Given the description of an element on the screen output the (x, y) to click on. 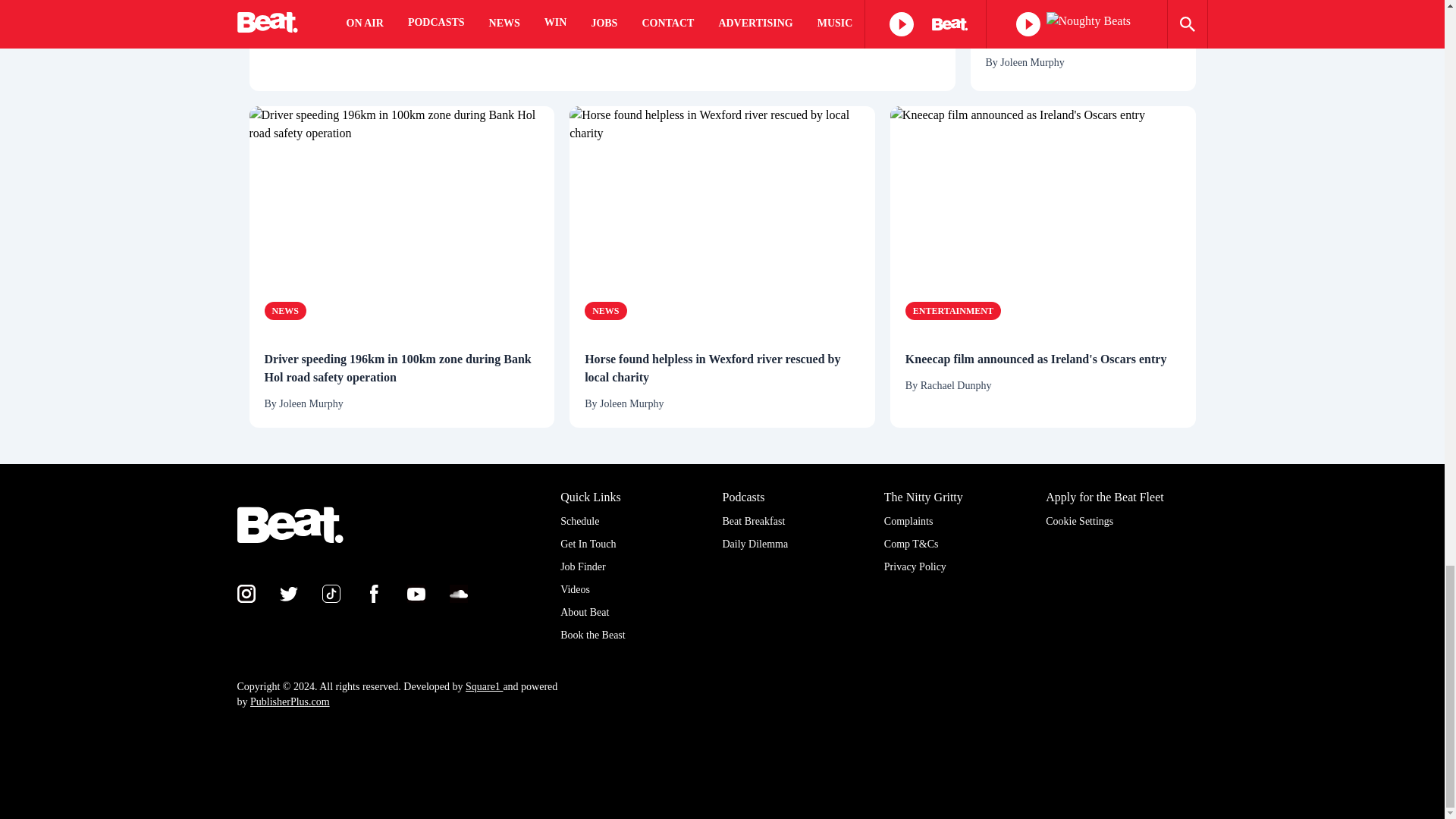
News (284, 311)
